Given the description of an element on the screen output the (x, y) to click on. 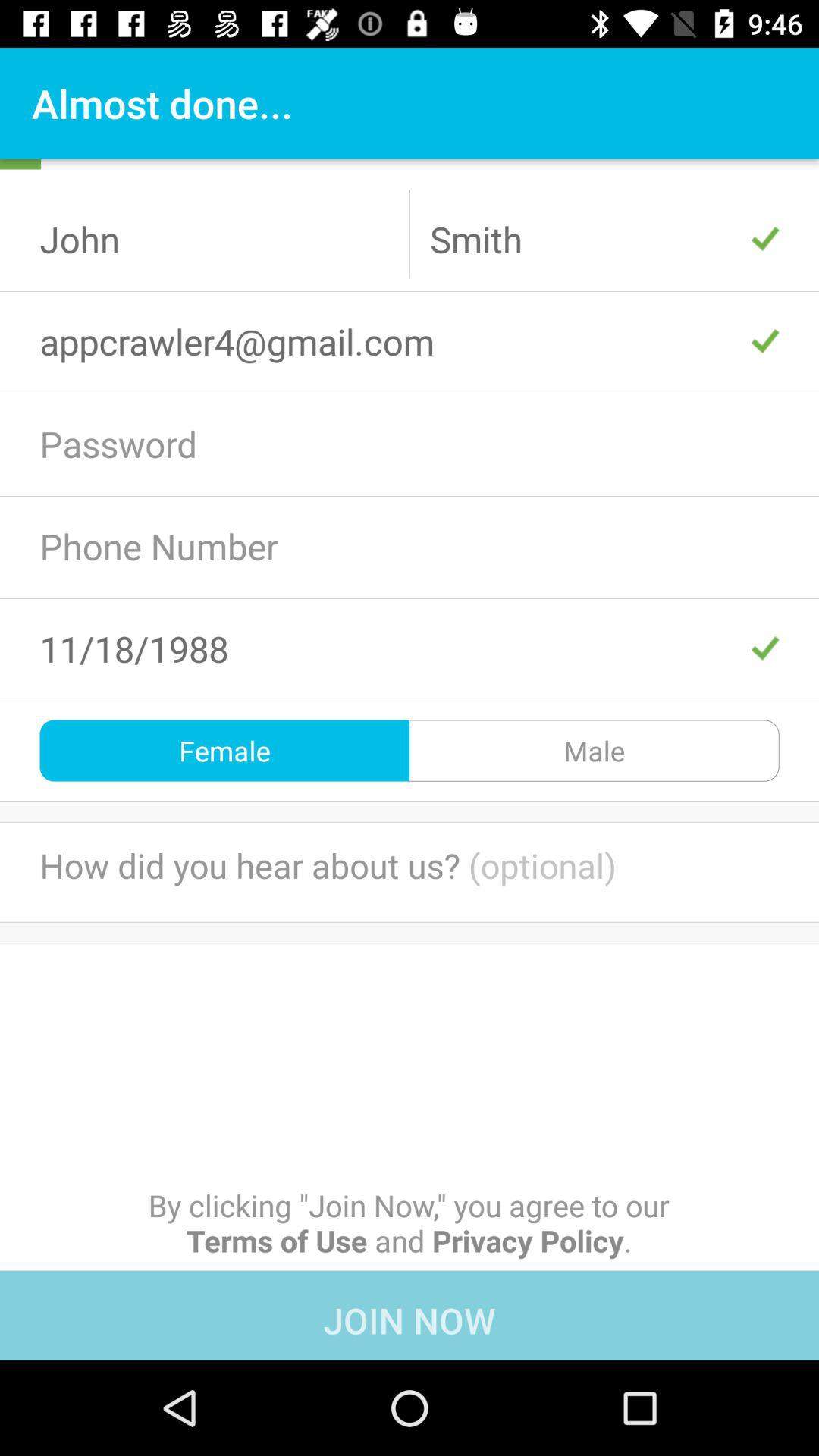
tap icon next to female item (594, 750)
